Given the description of an element on the screen output the (x, y) to click on. 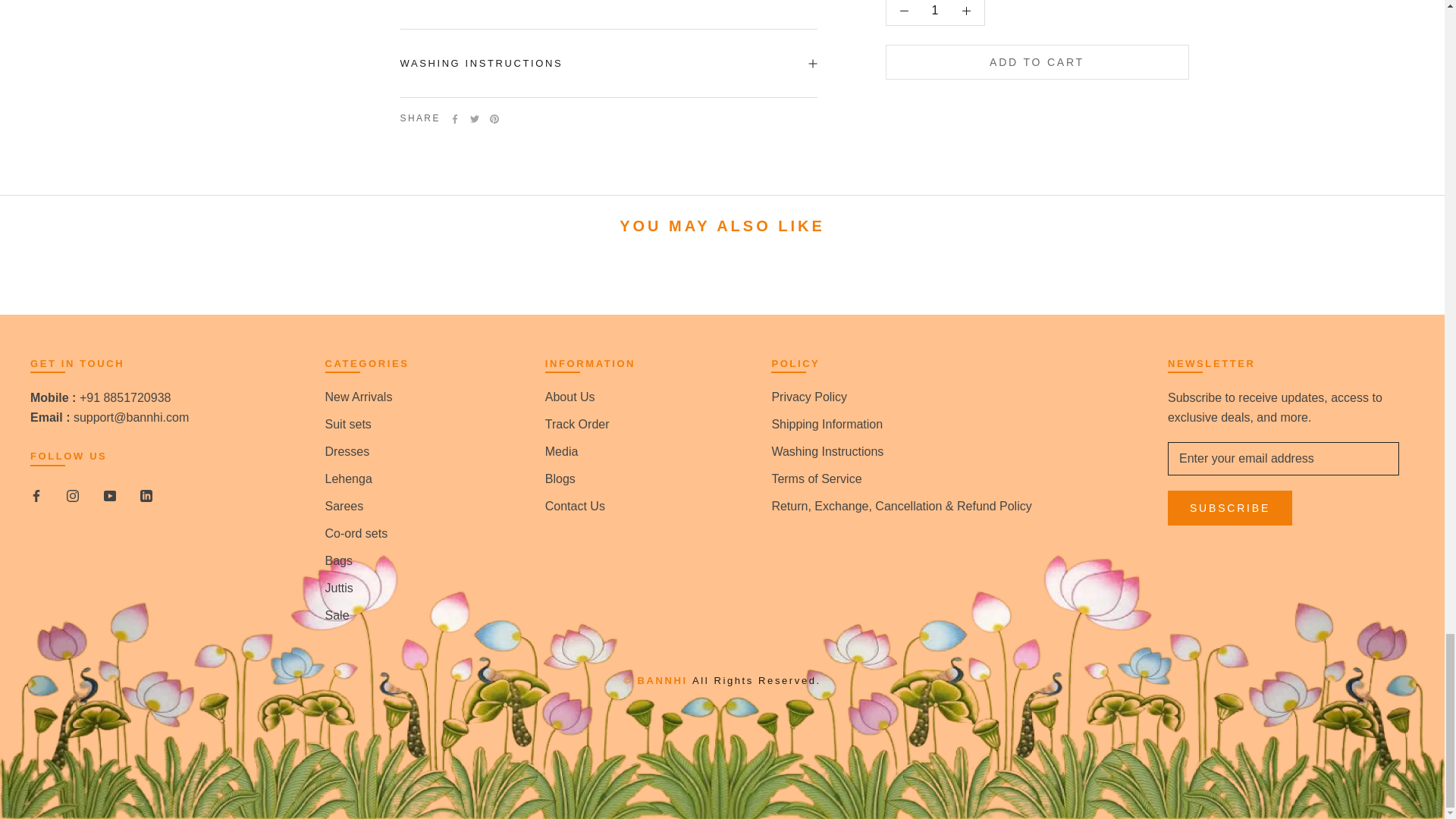
Bannhi on Youtube (109, 495)
Bannhi on Facebook (36, 495)
Bannhi on Instagram (72, 495)
Bannhi on Linkedin (145, 495)
